Given the description of an element on the screen output the (x, y) to click on. 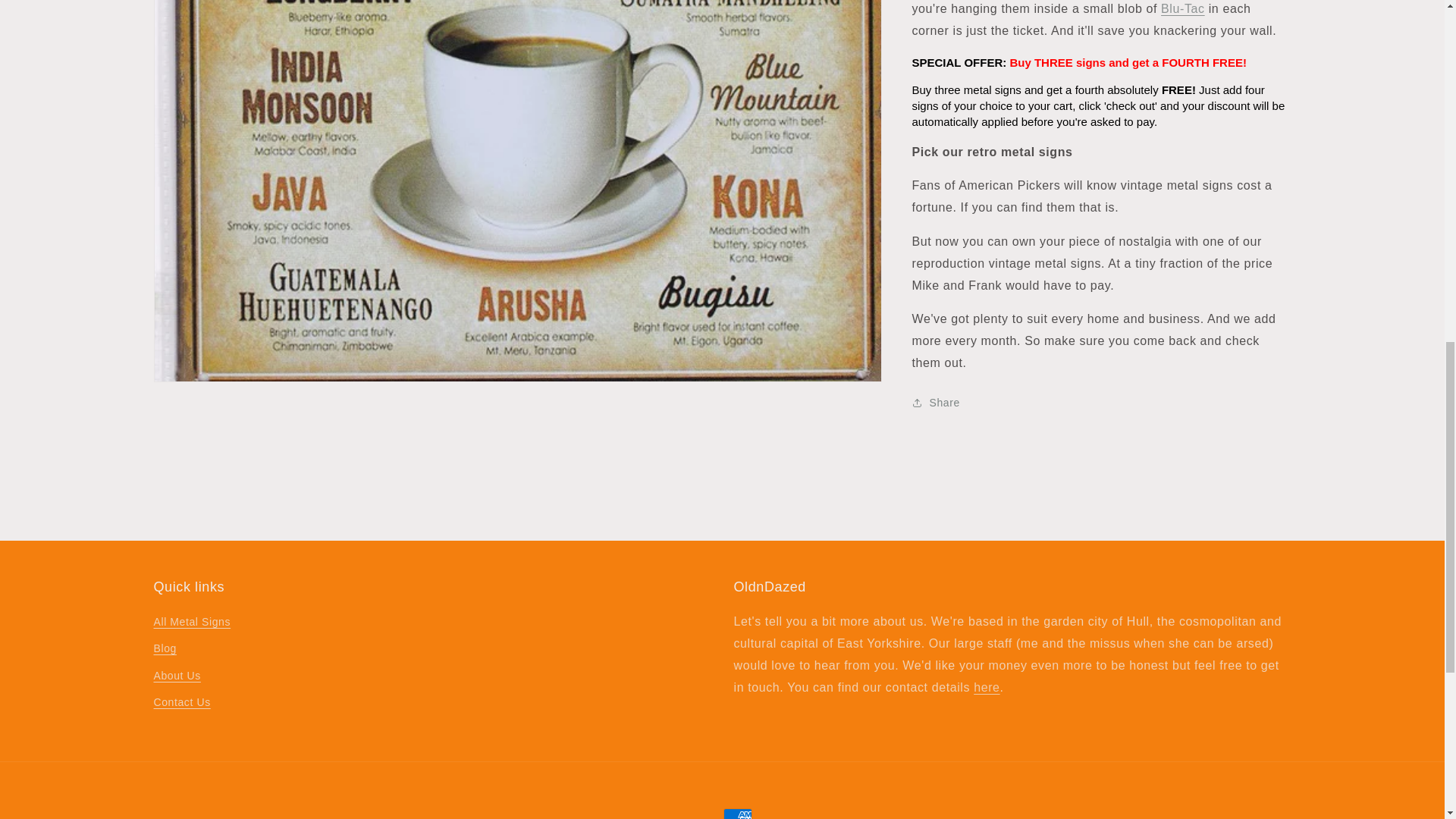
American Express (737, 813)
Contact Us (986, 686)
